Given the description of an element on the screen output the (x, y) to click on. 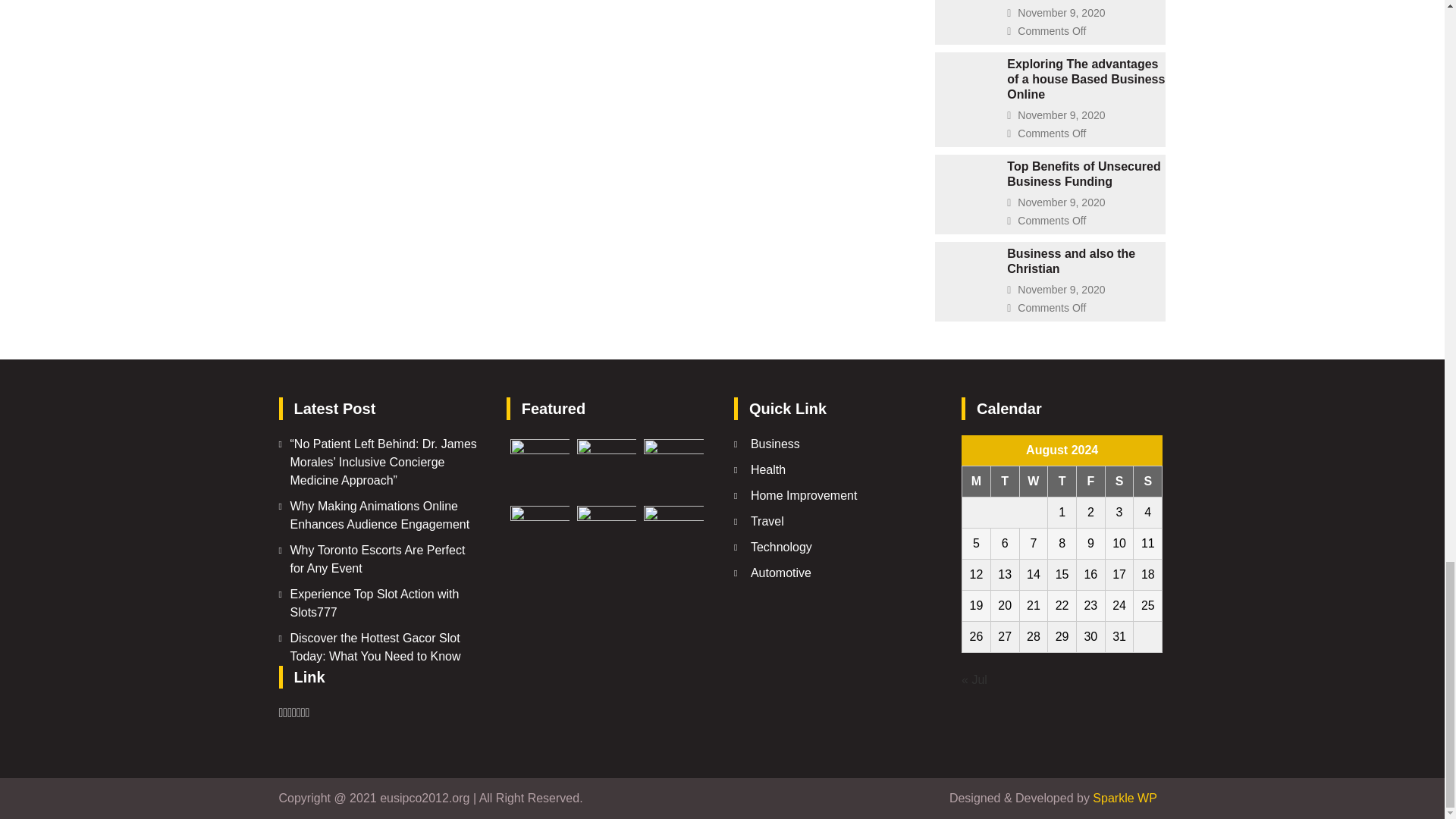
Saturday (1119, 481)
Friday (1090, 481)
Thursday (1062, 481)
Monday (976, 481)
Sunday (1147, 481)
Wednesday (1033, 481)
Tuesday (1004, 481)
